Given the description of an element on the screen output the (x, y) to click on. 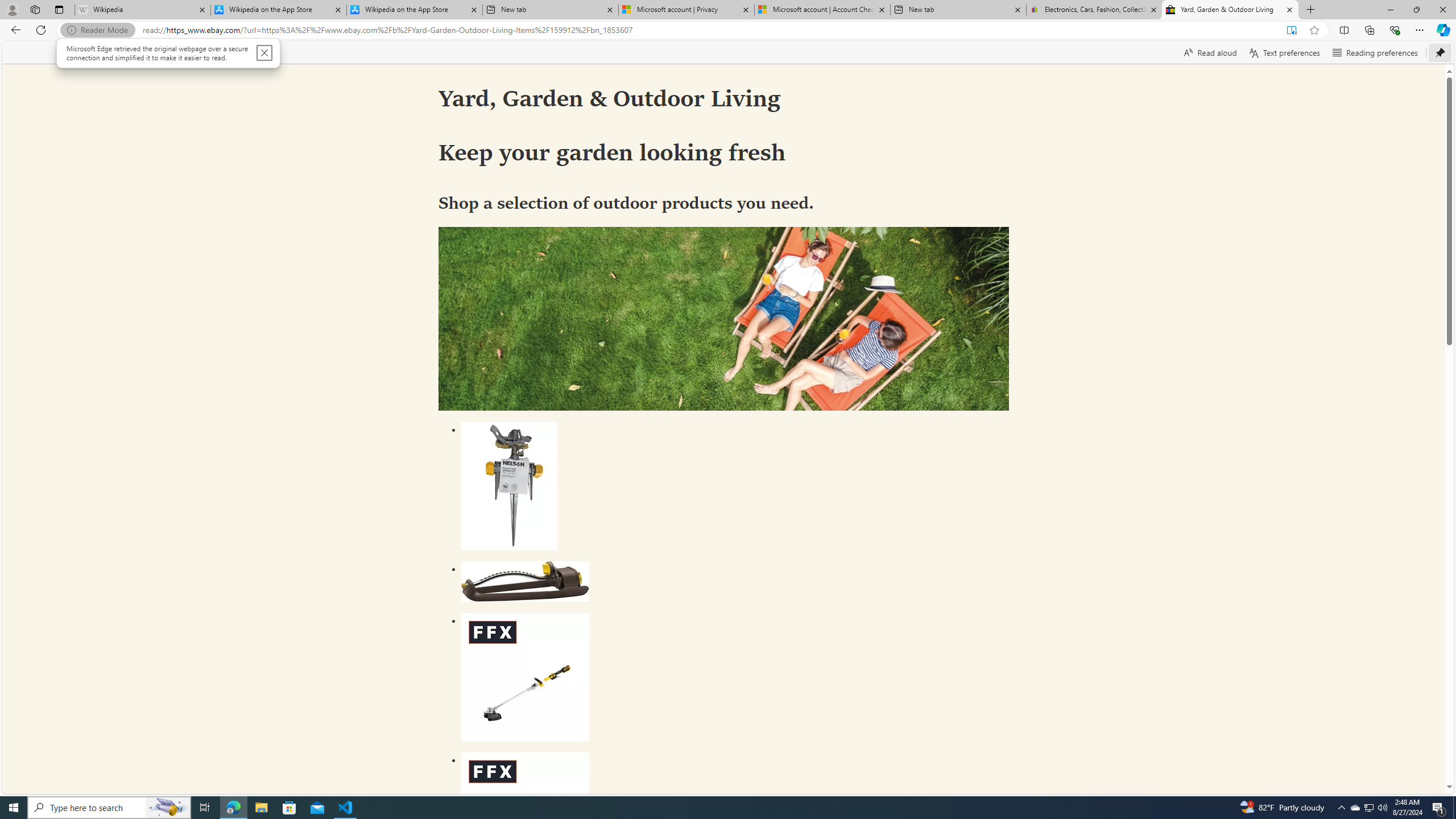
Exit Immersive Reader (F9) (1291, 29)
Text preferences (1283, 52)
Reading preferences (1355, 807)
